Given the description of an element on the screen output the (x, y) to click on. 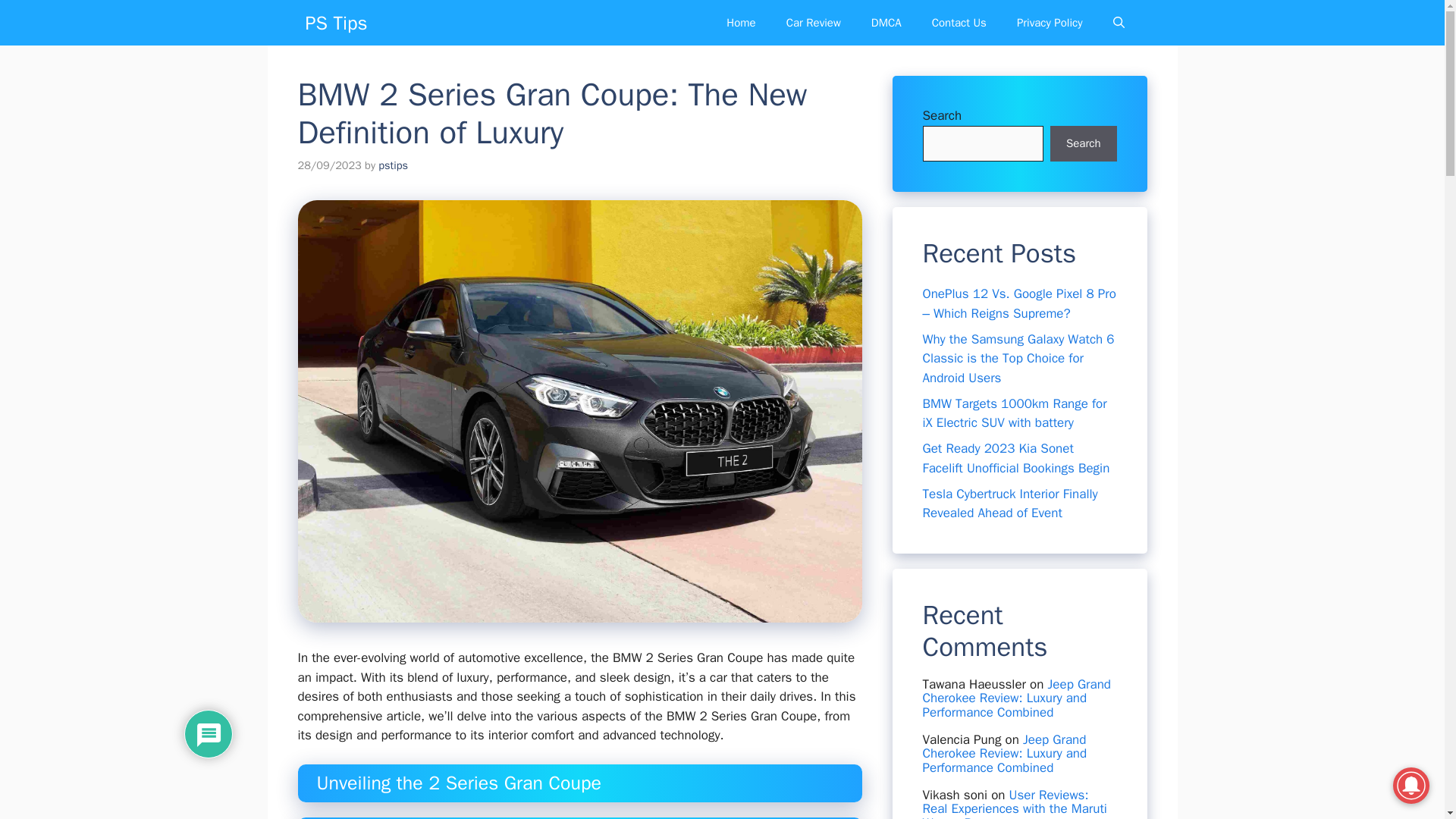
User Reviews: Real Experiences with the Maruti Wagon R (1013, 803)
BMW Targets 1000km Range for iX Electric SUV with battery (1013, 413)
pstips (392, 164)
Get Ready 2023 Kia Sonet Facelift Unofficial Bookings Begin (1015, 457)
Jeep Grand Cherokee Review: Luxury and Performance Combined (1015, 698)
Tesla Cybertruck Interior Finally Revealed Ahead of Event (1009, 502)
Jeep Grand Cherokee Review: Luxury and Performance Combined (1003, 753)
DMCA (886, 22)
View all posts by pstips (392, 164)
Contact Us (959, 22)
Car Review (813, 22)
PS Tips (335, 22)
Search (1082, 144)
Privacy Policy (1049, 22)
